Given the description of an element on the screen output the (x, y) to click on. 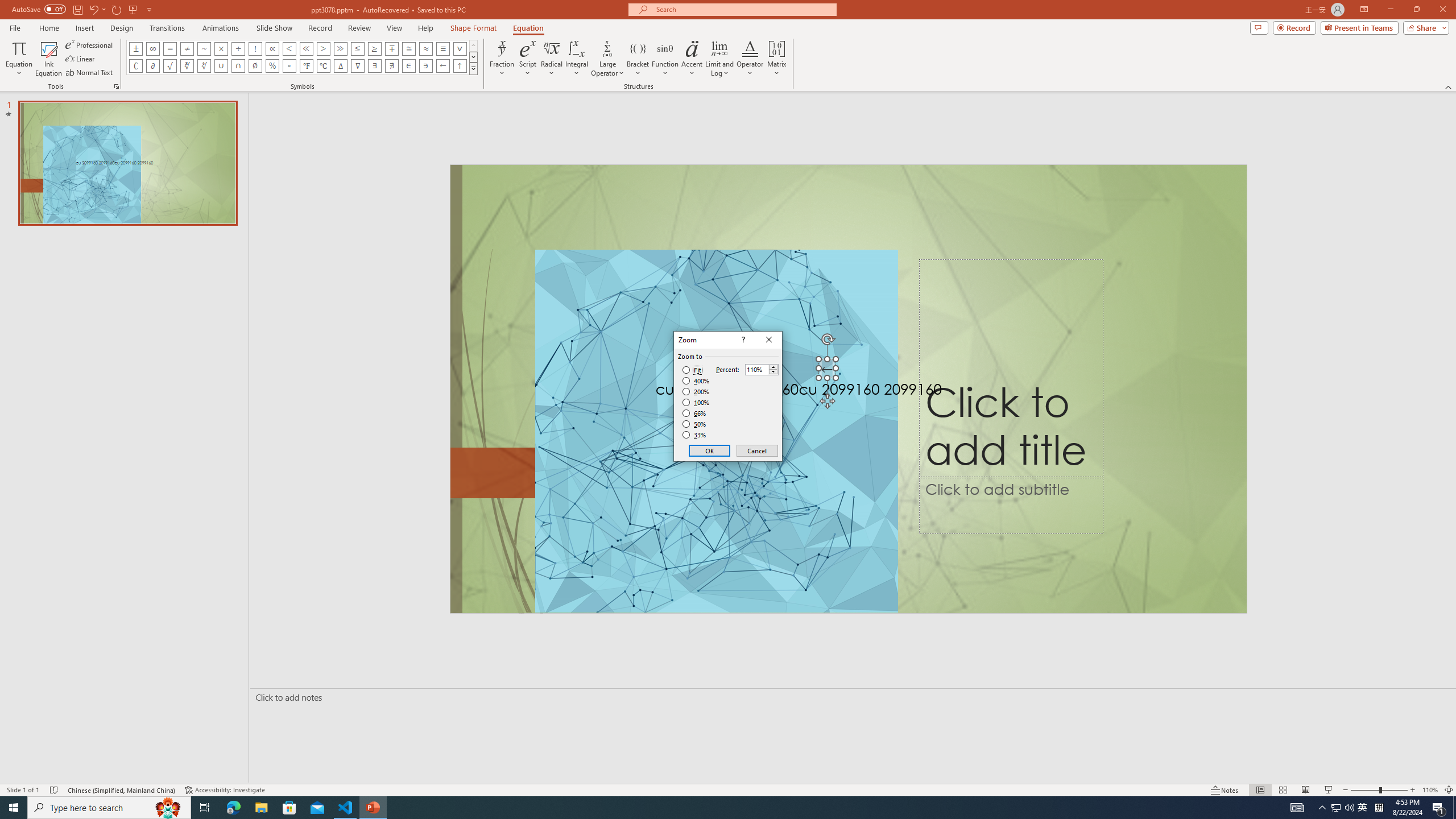
Equation Symbol Empty Set (255, 65)
Equation Symbol Factorial (255, 48)
Equation Symbol Much Less Than (306, 48)
Equation Symbol Greater Than or Equal To (374, 48)
Equation Symbol Division Sign (238, 48)
Equation Symbol Equal (170, 48)
Fit (691, 370)
Accent (691, 58)
